Given the description of an element on the screen output the (x, y) to click on. 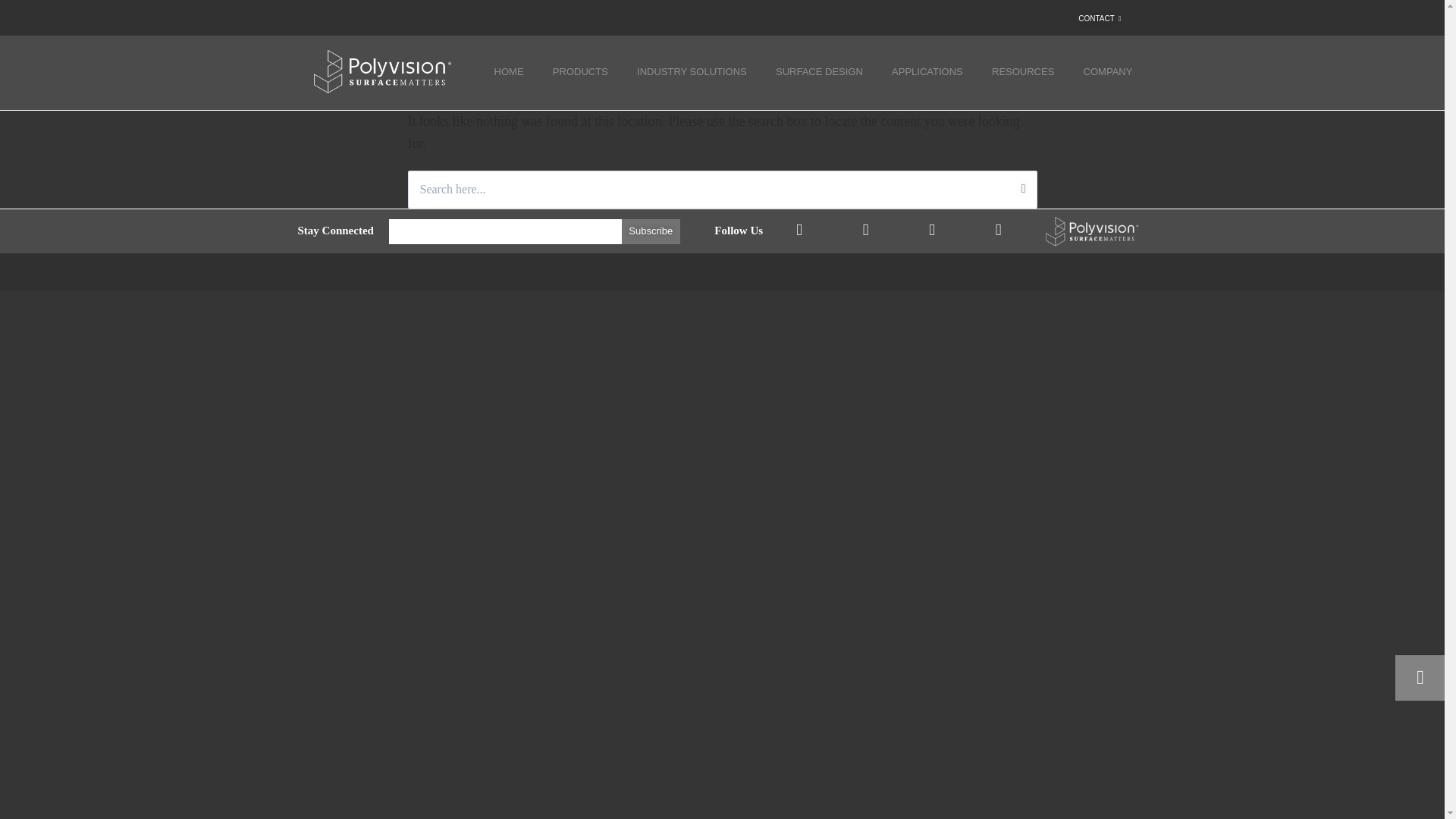
RESOURCES (1022, 71)
APPLICATIONS (926, 71)
PRODUCTS (580, 71)
COMPANY (1107, 71)
SURFACE DESIGN (819, 71)
INDUSTRY SOLUTIONS (692, 71)
